Given the description of an element on the screen output the (x, y) to click on. 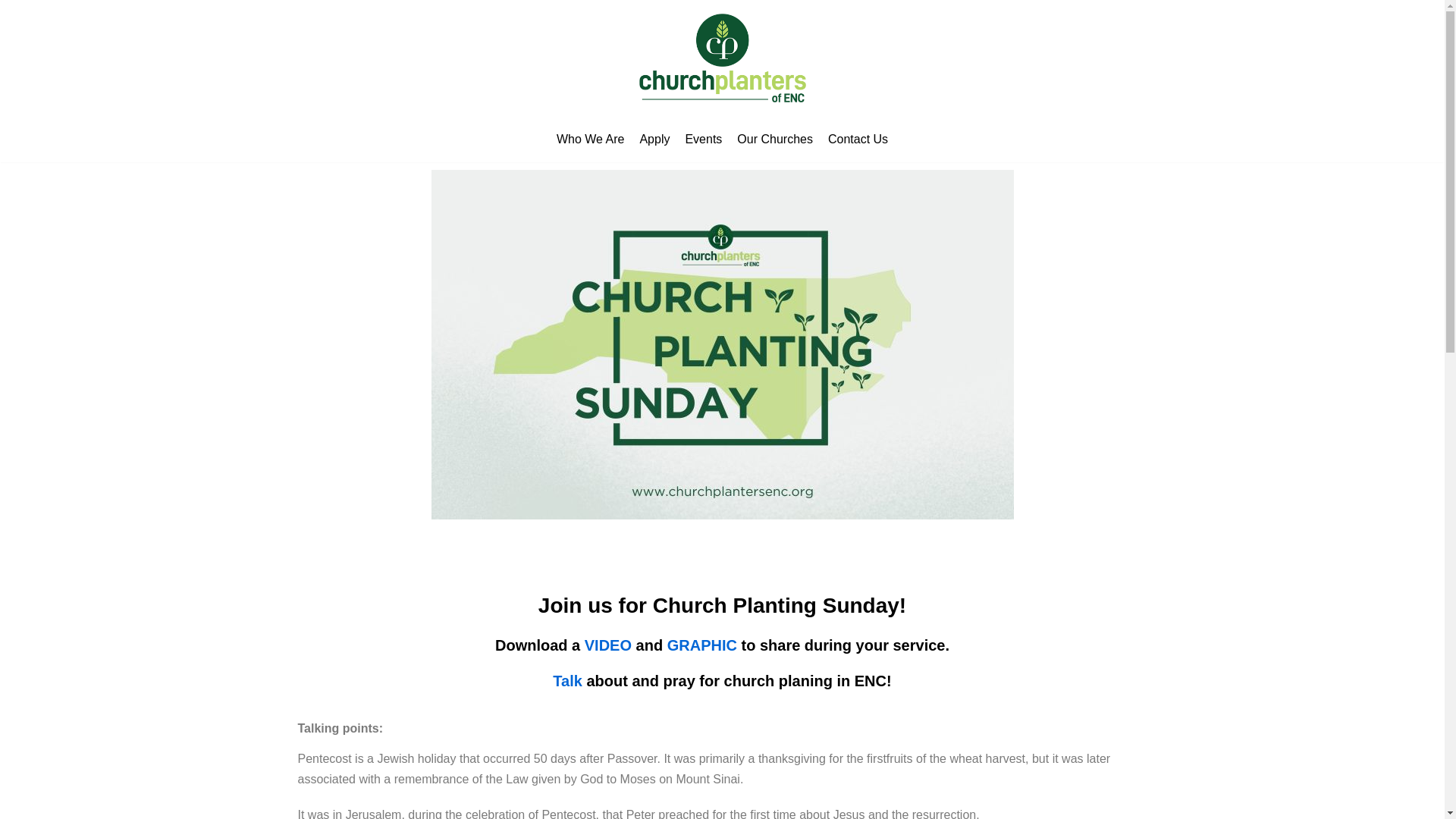
Apply (654, 139)
Talk (567, 680)
Church Planters of Eastern NC (722, 57)
Contact Us (858, 139)
Events (703, 139)
GRAPHIC (701, 645)
Skip to content (15, 7)
Our Churches (774, 139)
VIDEO (608, 645)
Page 1 (722, 769)
Who We Are (590, 139)
